Given the description of an element on the screen output the (x, y) to click on. 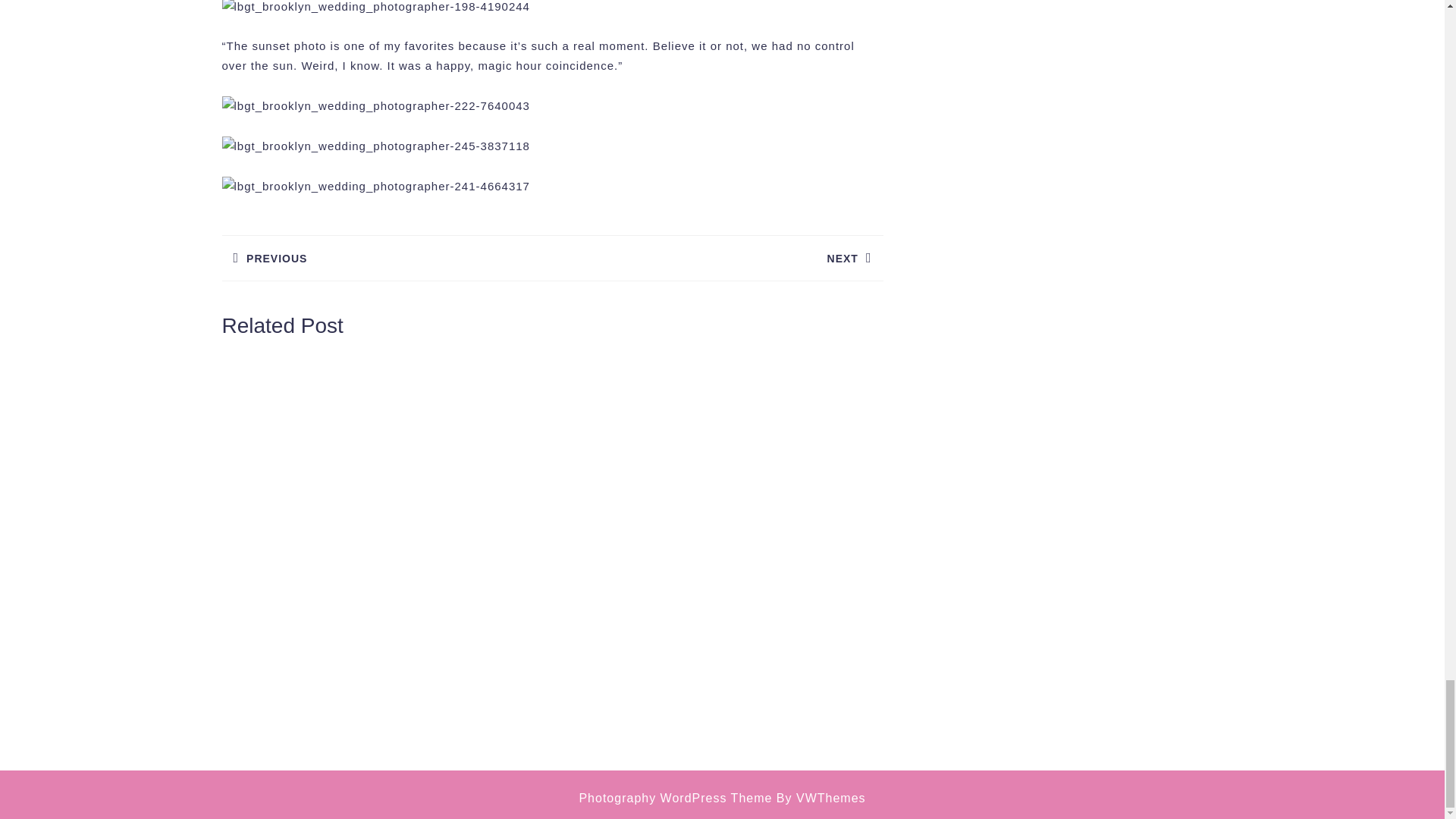
Photography WordPress Theme (716, 258)
